Given the description of an element on the screen output the (x, y) to click on. 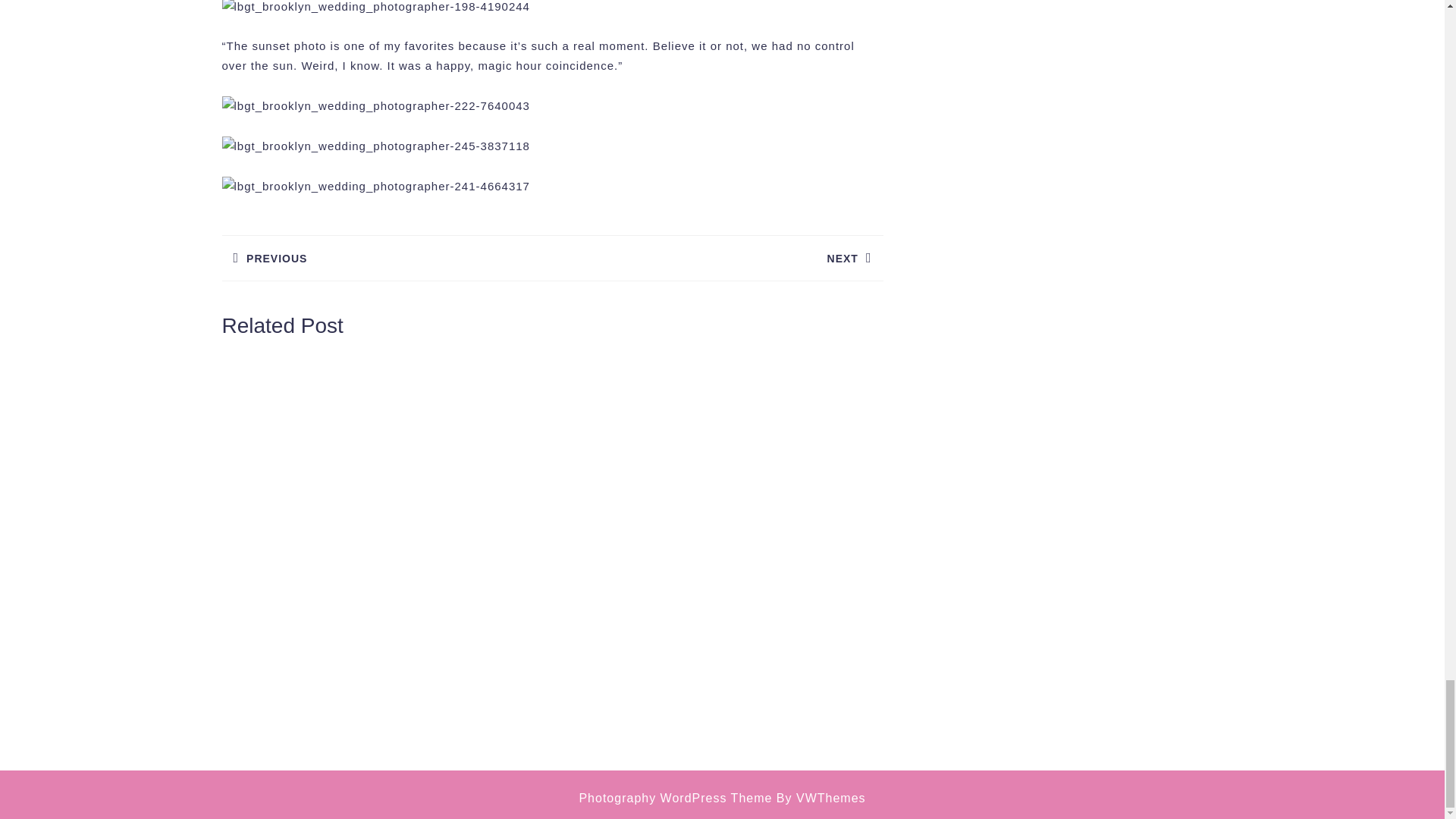
Photography WordPress Theme (716, 258)
